Given the description of an element on the screen output the (x, y) to click on. 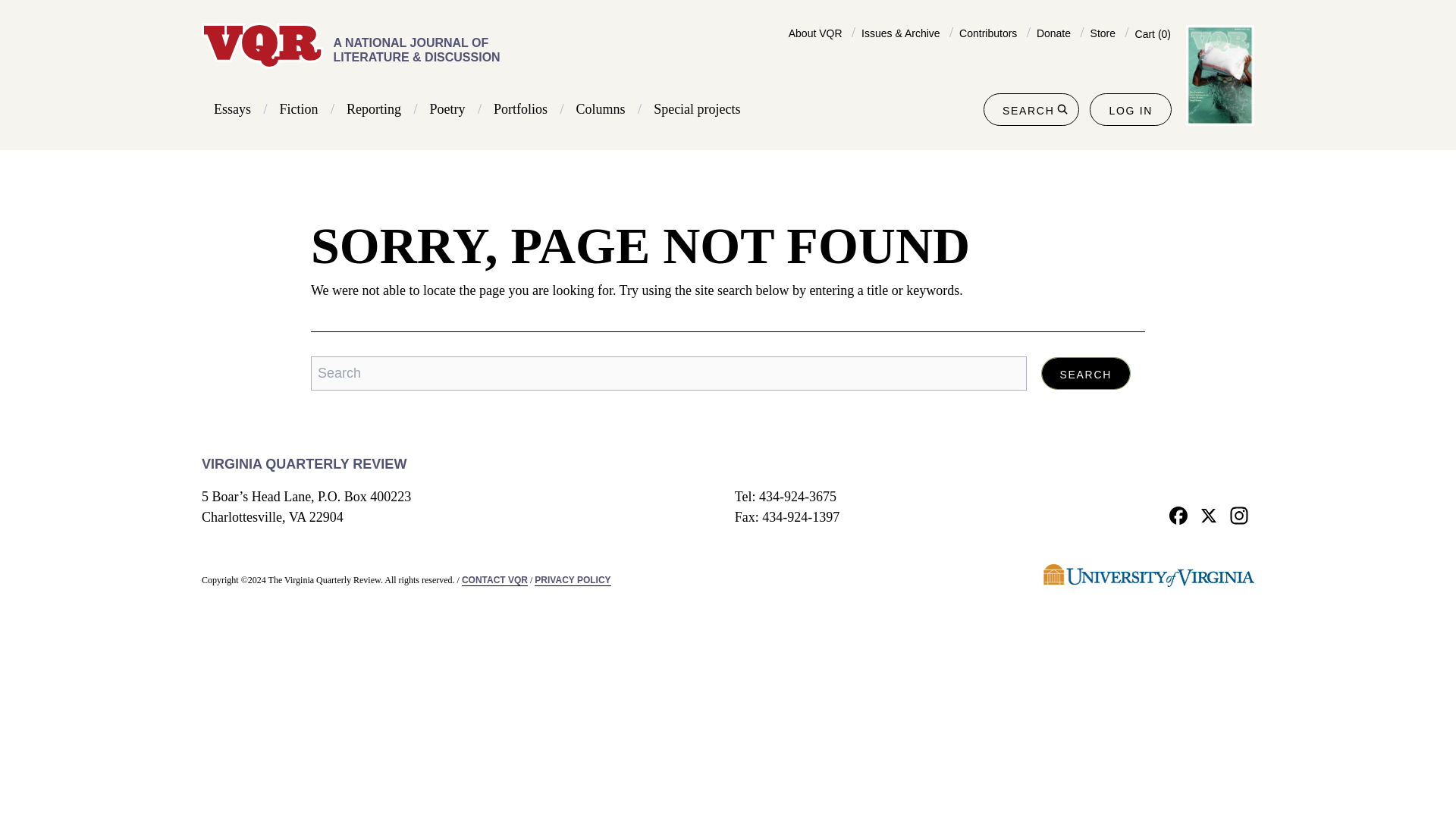
About VQR (816, 33)
Special projects (696, 109)
Fiction (298, 109)
CONTACT VQR (494, 580)
Search (1085, 373)
Donate (1053, 33)
X (1208, 514)
PRIVACY POLICY (572, 580)
Reporting (373, 109)
SEARCH (1031, 109)
Facebook (1178, 514)
Instagram (1238, 514)
Columns (601, 109)
Store (1102, 33)
